Given the description of an element on the screen output the (x, y) to click on. 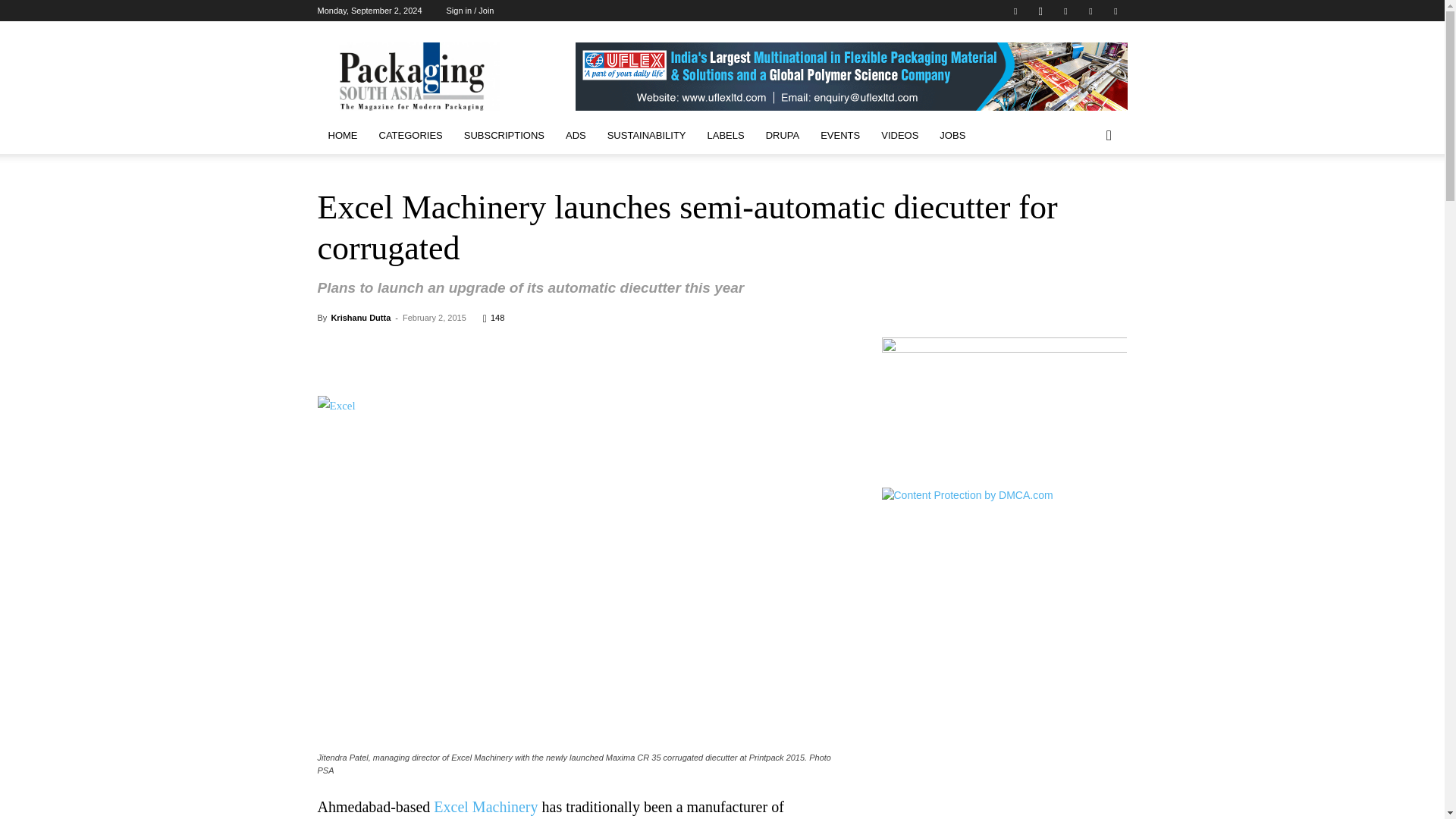
Linkedin (1065, 10)
Youtube (1114, 10)
Facebook (1015, 10)
Twitter (1090, 10)
Instagram (1040, 10)
